Given the description of an element on the screen output the (x, y) to click on. 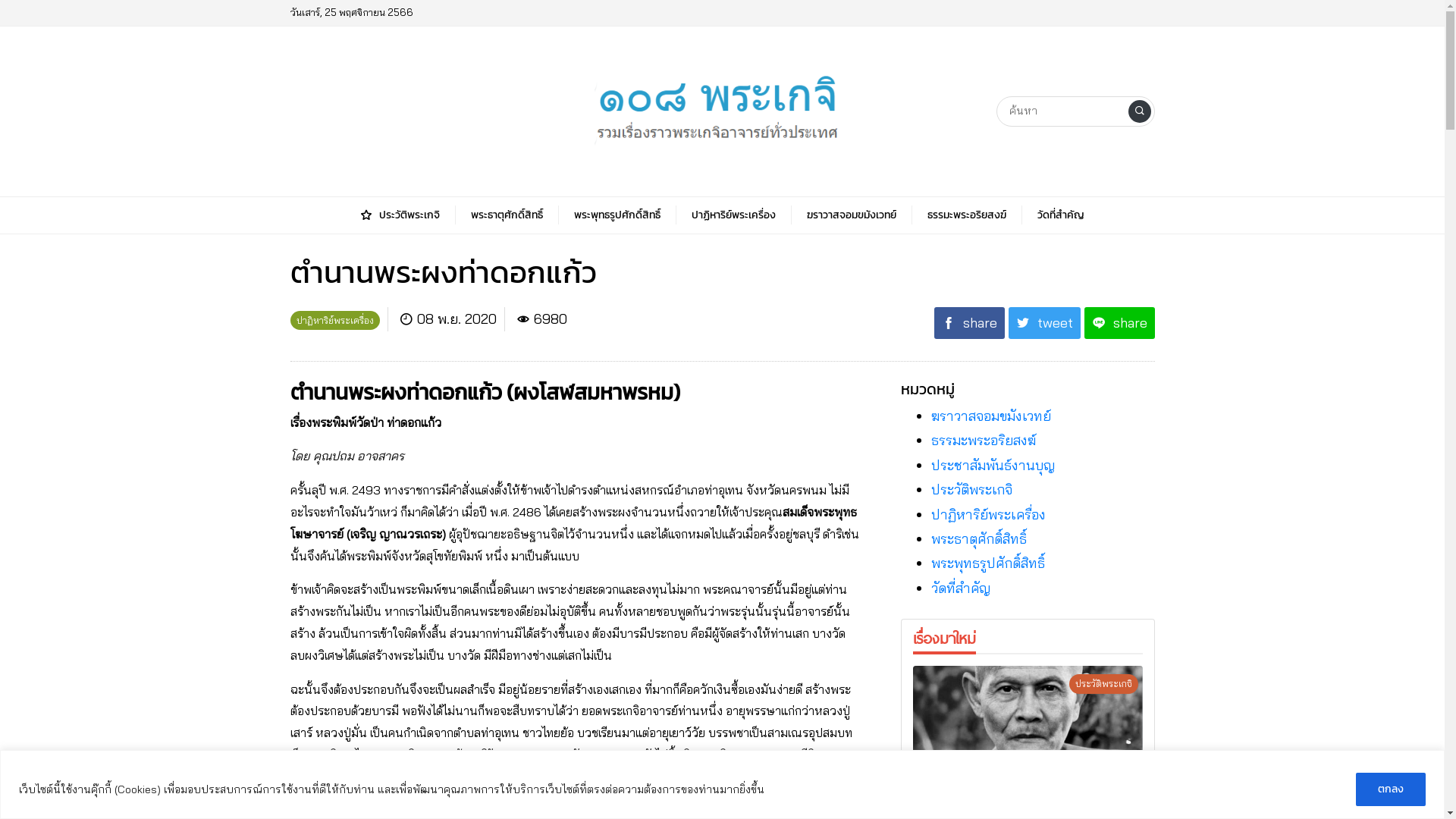
share Element type: text (969, 322)
share Element type: text (1119, 322)
tweet Element type: text (1044, 322)
